Given the description of an element on the screen output the (x, y) to click on. 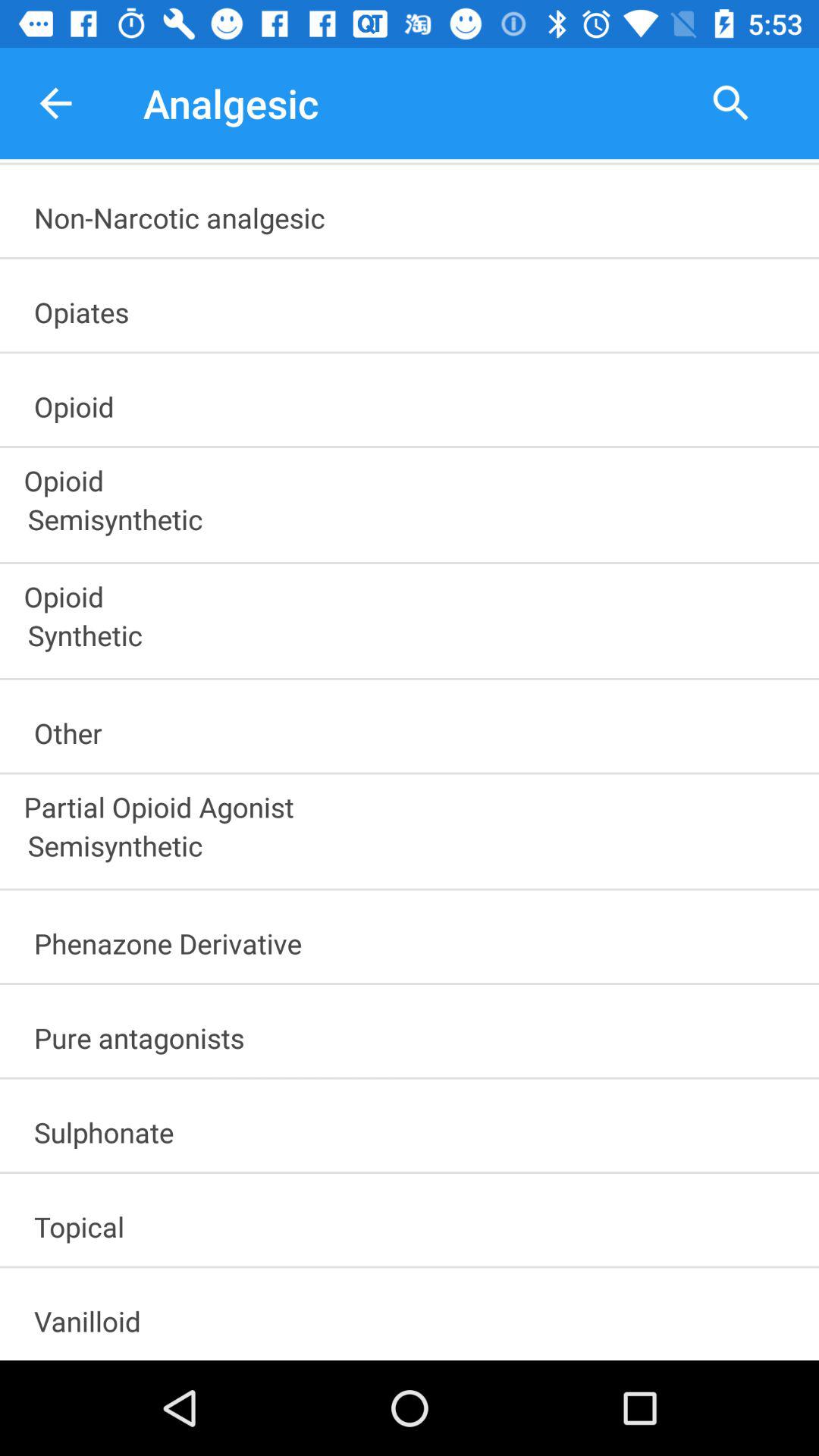
swipe until the sulphonate (416, 1127)
